Given the description of an element on the screen output the (x, y) to click on. 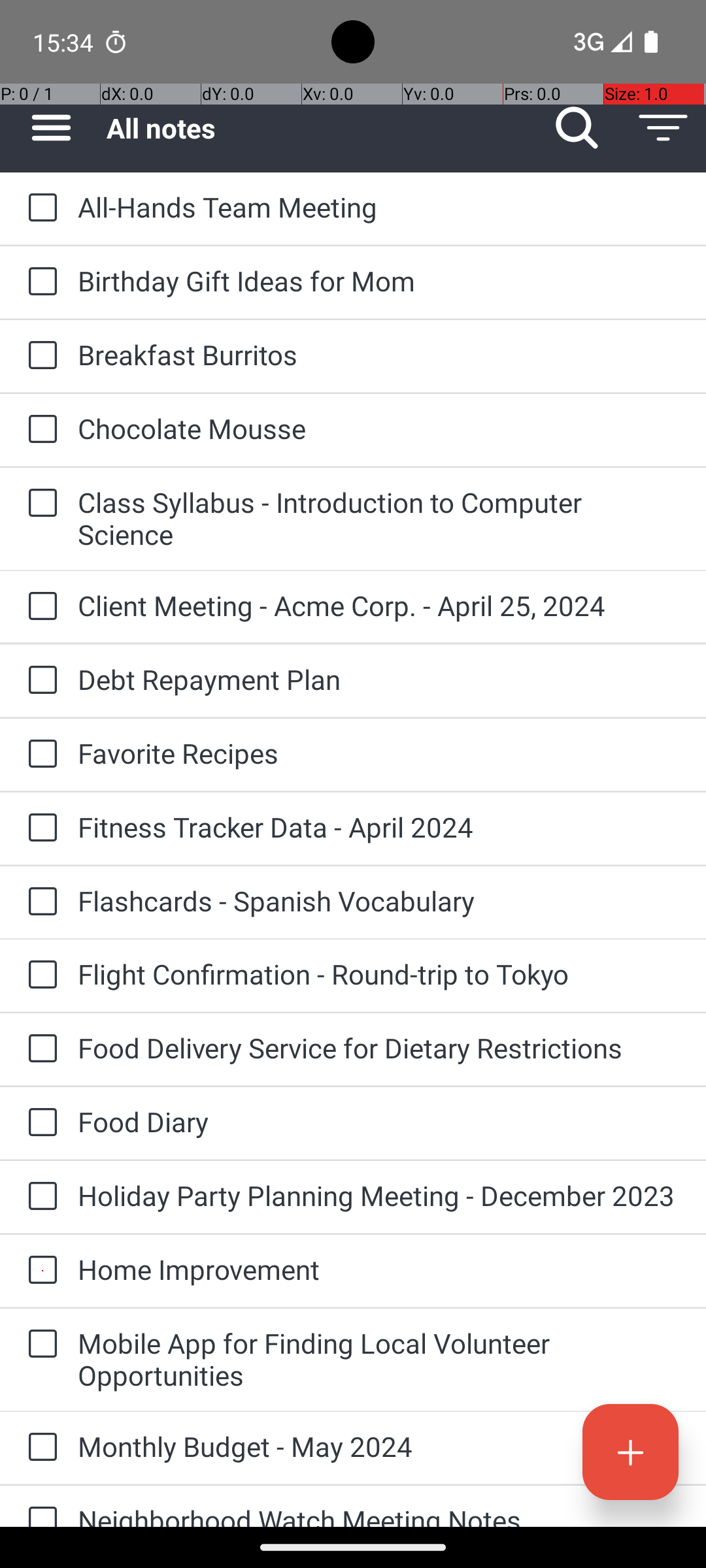
to-do: Birthday Gift Ideas for Mom Element type: android.widget.CheckBox (38, 282)
to-do: Breakfast Burritos Element type: android.widget.CheckBox (38, 356)
Breakfast Burritos Element type: android.widget.TextView (378, 354)
to-do: Chocolate Mousse Element type: android.widget.CheckBox (38, 429)
Chocolate Mousse Element type: android.widget.TextView (378, 427)
to-do: Class Syllabus - Introduction to Computer Science Element type: android.widget.CheckBox (38, 503)
Class Syllabus - Introduction to Computer Science Element type: android.widget.TextView (378, 517)
to-do: Debt Repayment Plan Element type: android.widget.CheckBox (38, 680)
to-do: Favorite Recipes Element type: android.widget.CheckBox (38, 754)
Favorite Recipes Element type: android.widget.TextView (378, 752)
to-do: Flashcards - Spanish Vocabulary Element type: android.widget.CheckBox (38, 902)
Flashcards - Spanish Vocabulary Element type: android.widget.TextView (378, 900)
to-do: Food Diary Element type: android.widget.CheckBox (38, 1123)
Food Diary Element type: android.widget.TextView (378, 1121)
to-do: Holiday Party Planning Meeting - December 2023 Element type: android.widget.CheckBox (38, 1196)
Holiday Party Planning Meeting - December 2023 Element type: android.widget.TextView (378, 1194)
to-do: Home Improvement Element type: android.widget.CheckBox (38, 1270)
Home Improvement Element type: android.widget.TextView (378, 1268)
to-do: Monthly Budget - May 2024 Element type: android.widget.CheckBox (38, 1447)
Monthly Budget - May 2024 Element type: android.widget.TextView (378, 1445)
to-do: Neighborhood Watch Meeting Notes Element type: android.widget.CheckBox (38, 1505)
Neighborhood Watch Meeting Notes Element type: android.widget.TextView (378, 1513)
